Given the description of an element on the screen output the (x, y) to click on. 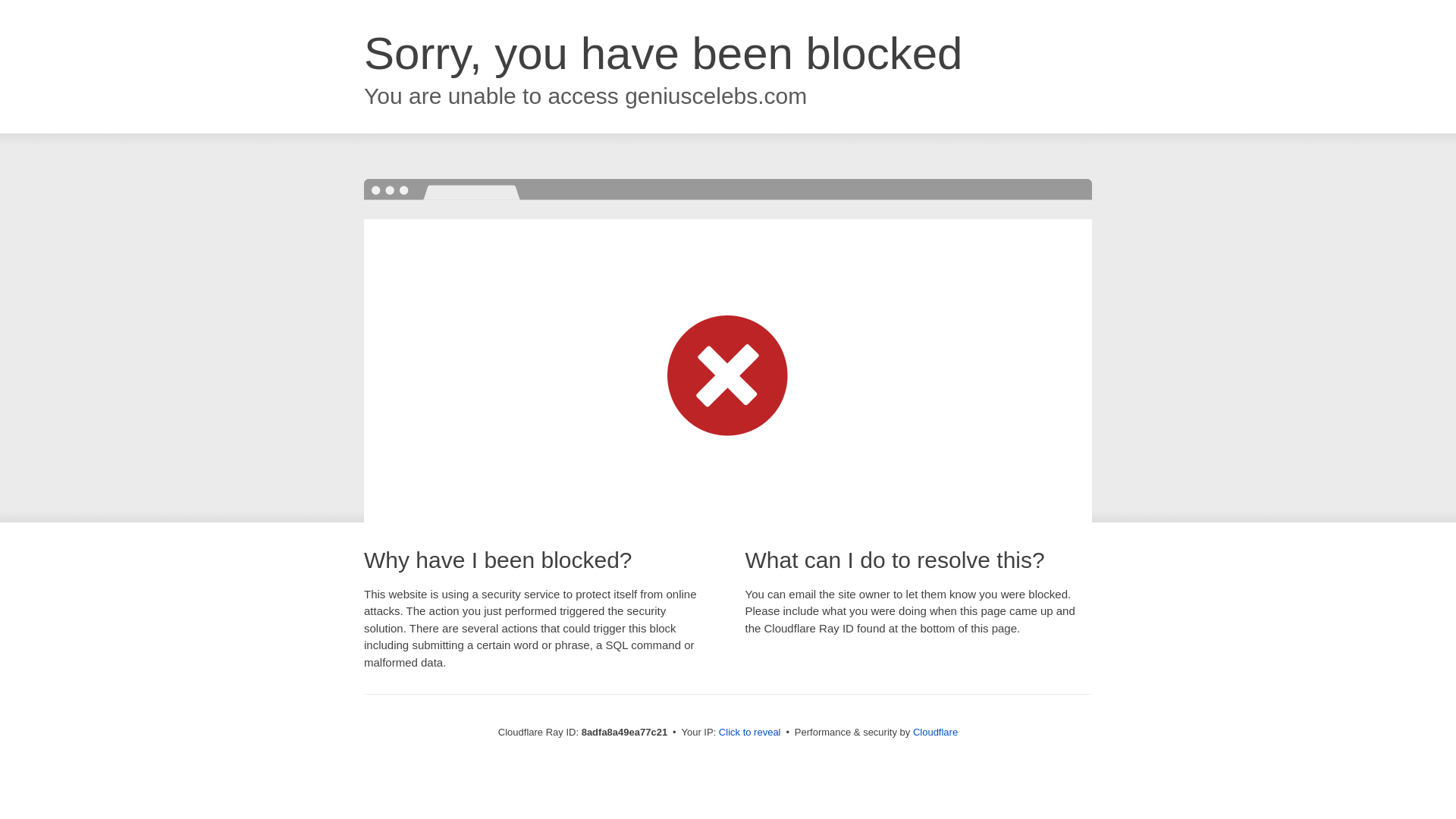
Cloudflare (935, 731)
Click to reveal (749, 732)
